Given the description of an element on the screen output the (x, y) to click on. 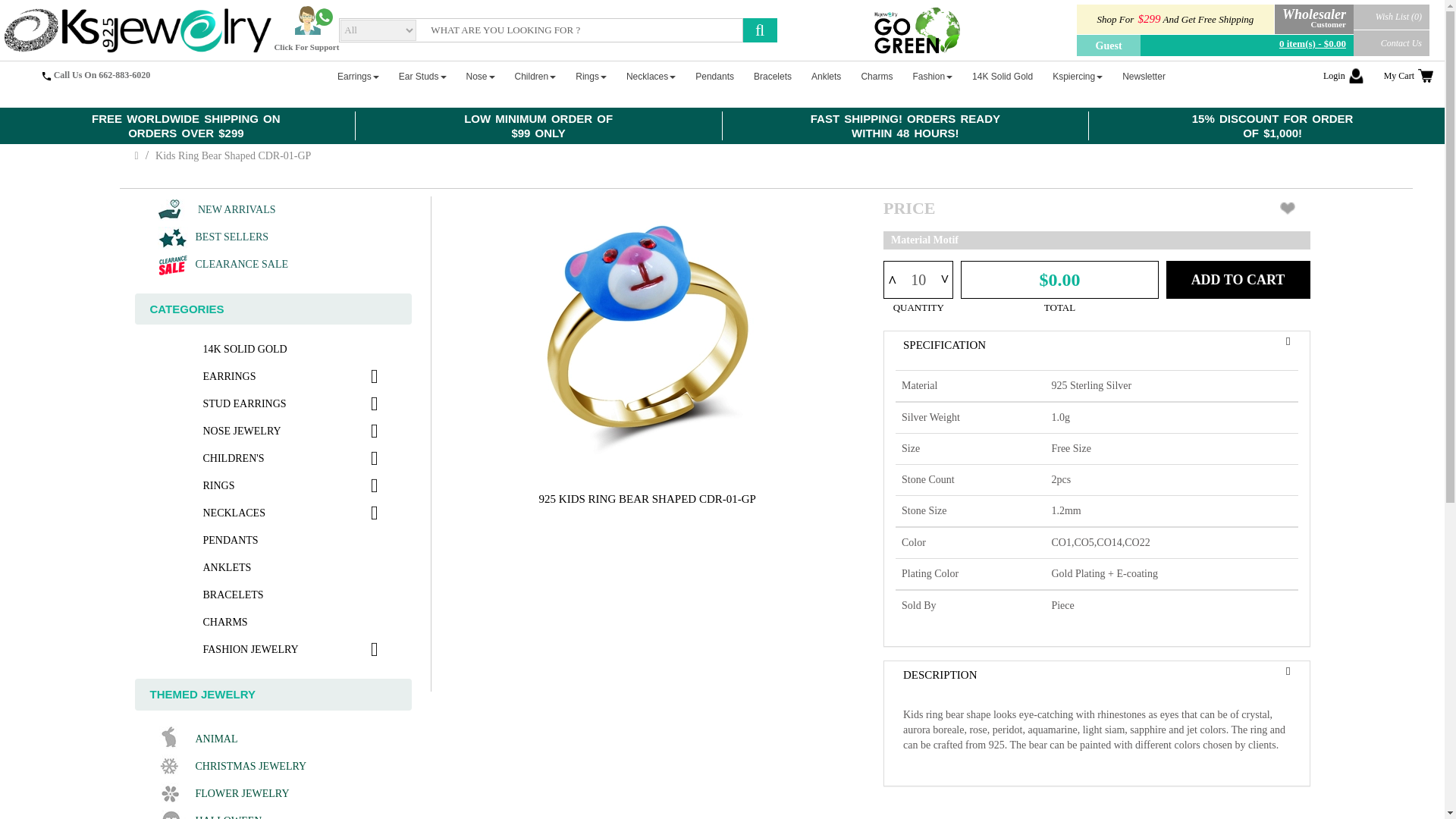
10 (918, 279)
Wholesale Sterling Silver Jewelry (136, 30)
call (46, 75)
Earrings (358, 76)
Contact Us (1391, 43)
Nose (480, 76)
Ear Studs (422, 76)
Kids Ring Bear Shaped CDR-01-GP (647, 332)
